Given the description of an element on the screen output the (x, y) to click on. 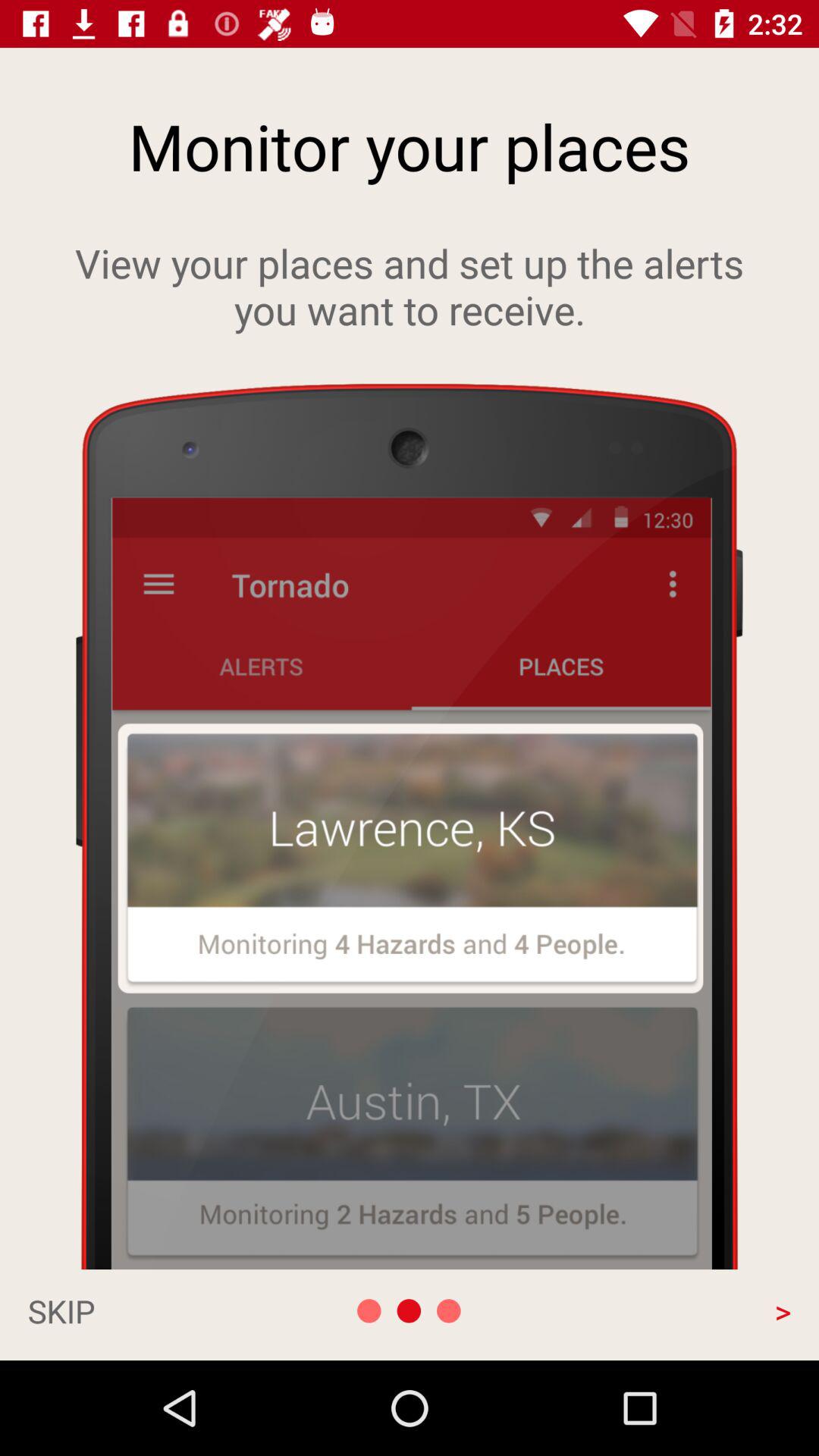
turn on the > at the bottom right corner (677, 1310)
